Given the description of an element on the screen output the (x, y) to click on. 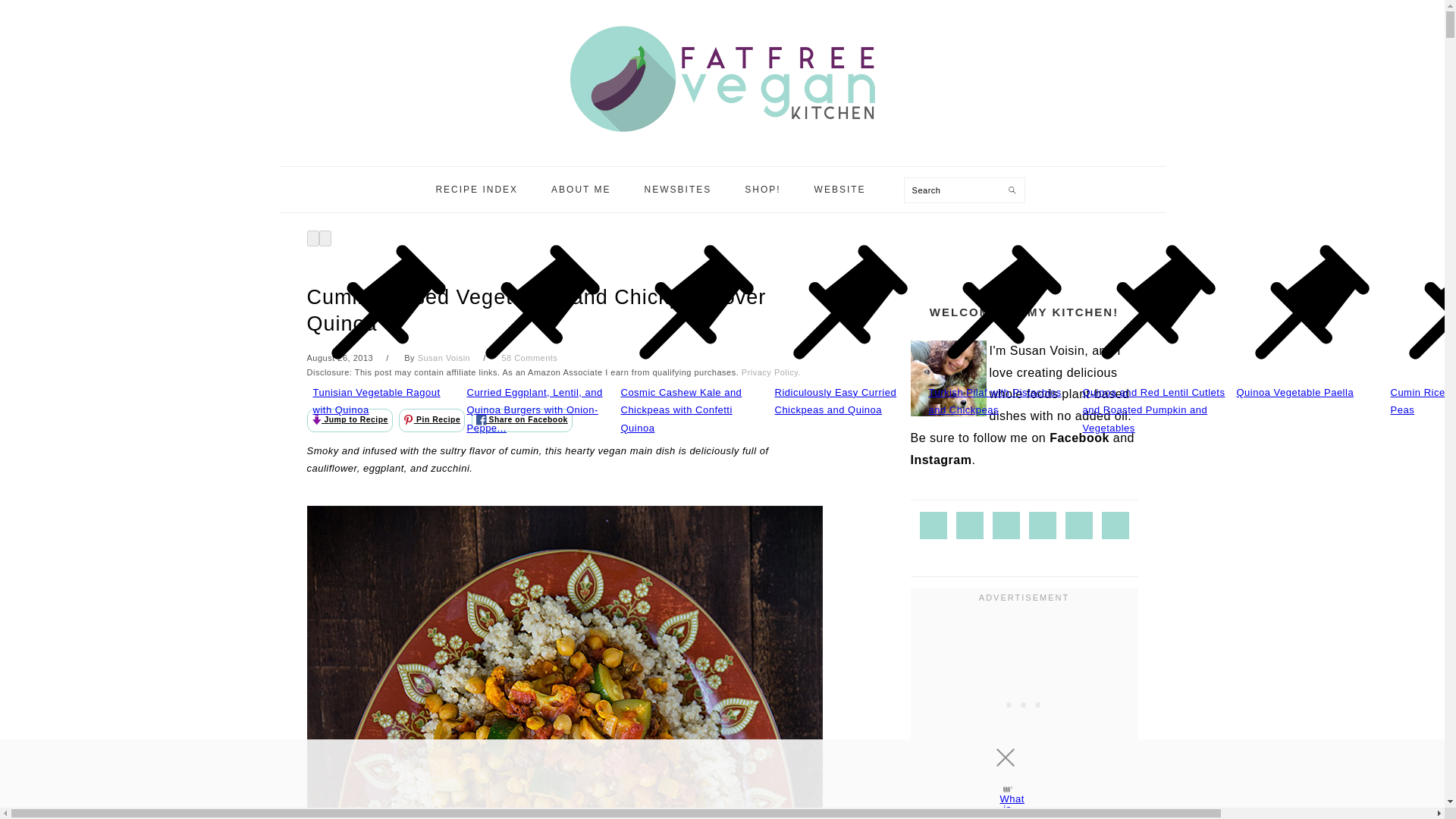
Jump to Recipe (348, 420)
Privacy Policy. (770, 371)
SHOP! (762, 189)
Jump to Recipe (348, 420)
Share on Facebook (521, 420)
3rd party ad content (708, 773)
RECIPE INDEX (476, 189)
58 Comments (528, 357)
NEWSBITES (678, 189)
Susan Voisin (443, 357)
Pin Recipe (431, 420)
